Given the description of an element on the screen output the (x, y) to click on. 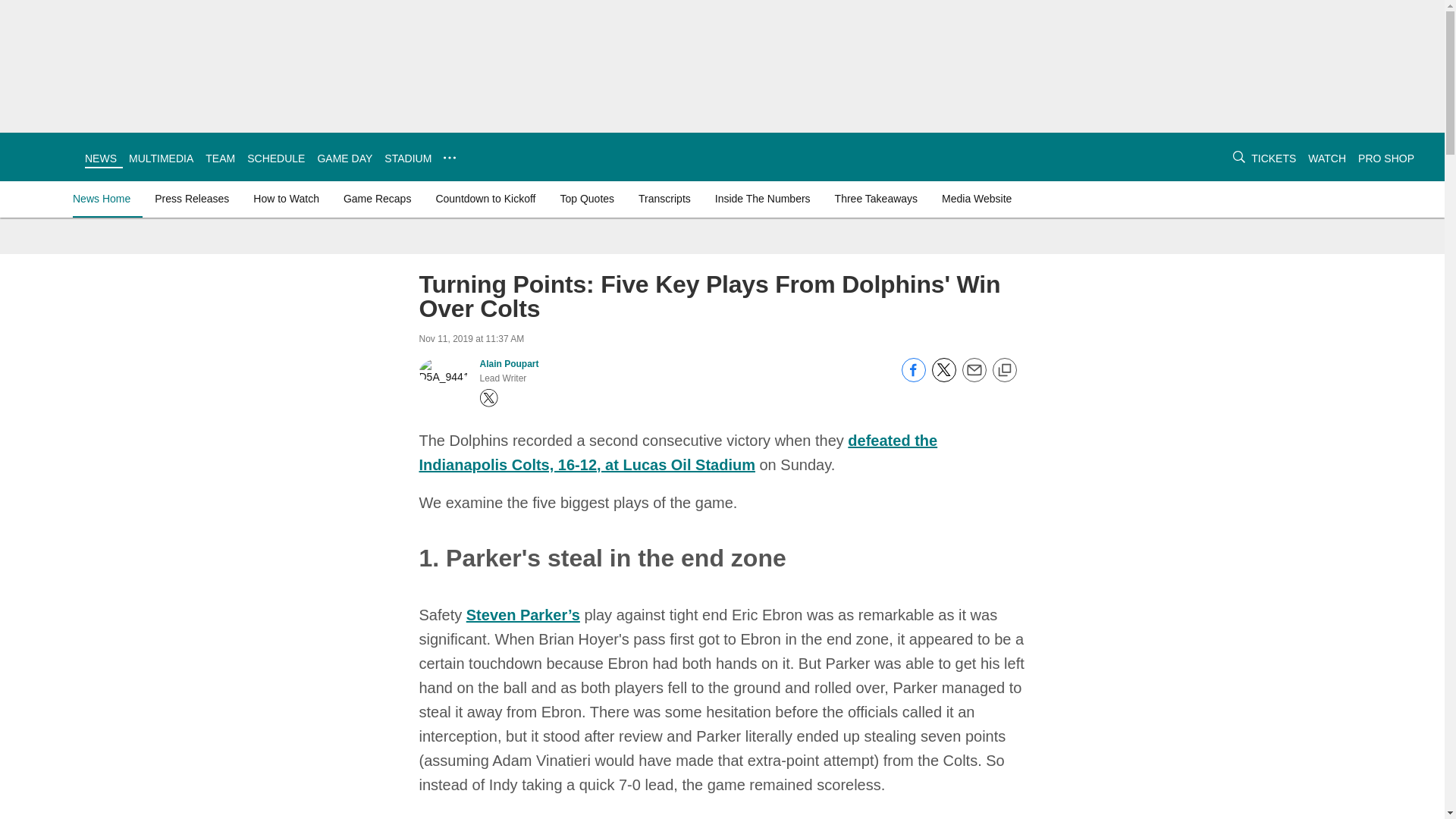
Top Quotes (586, 198)
Press Releases (191, 198)
MULTIMEDIA (161, 158)
SCHEDULE (275, 158)
Countdown to Kickoff (485, 198)
defeated the Indianapolis Colts, 16-12, at Lucas Oil Stadium (678, 452)
WATCH (1326, 158)
PRO SHOP (1385, 158)
GAME DAY (344, 158)
TICKETS (1272, 158)
